Given the description of an element on the screen output the (x, y) to click on. 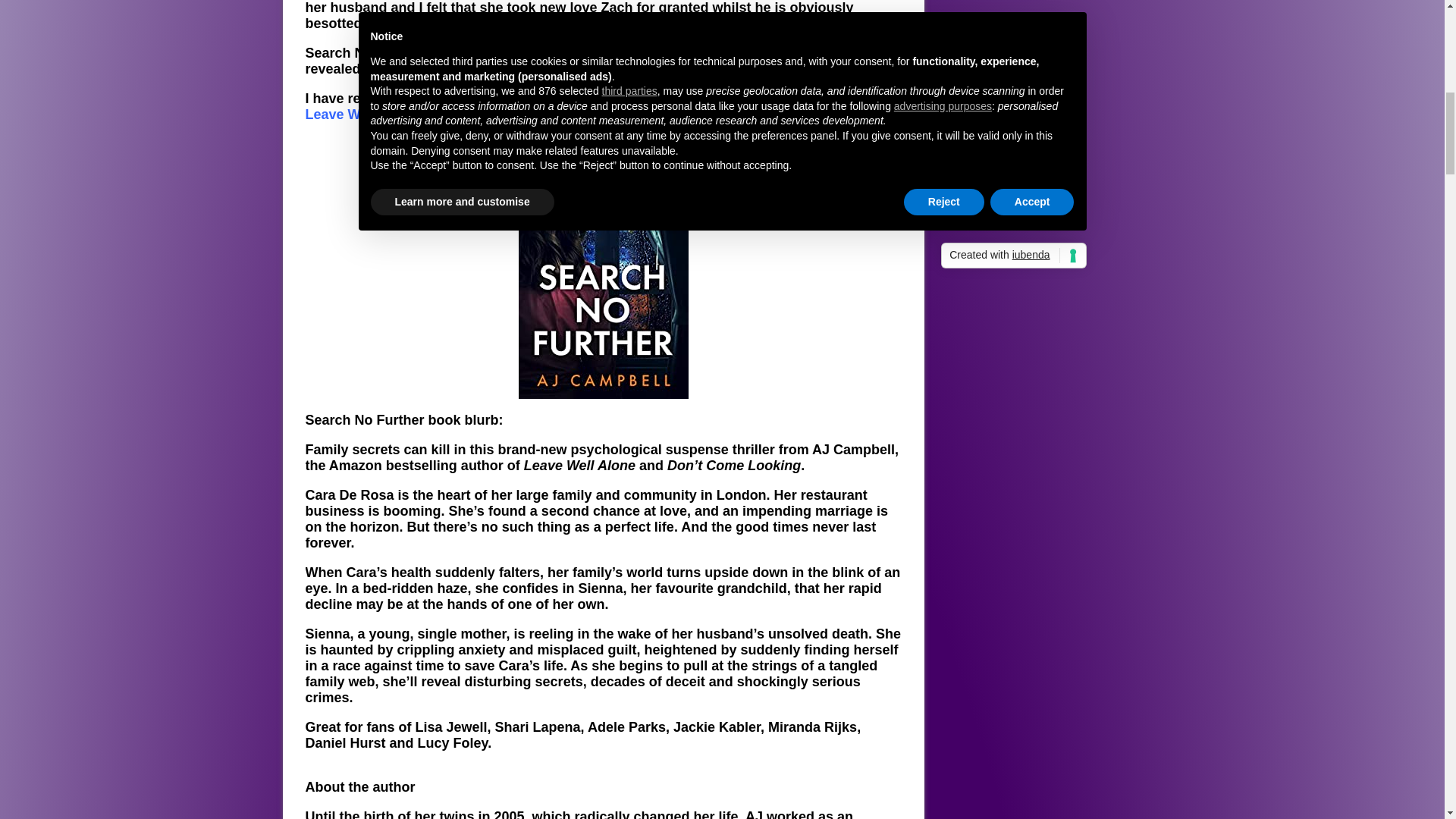
Leave Well Alone (360, 114)
